Given the description of an element on the screen output the (x, y) to click on. 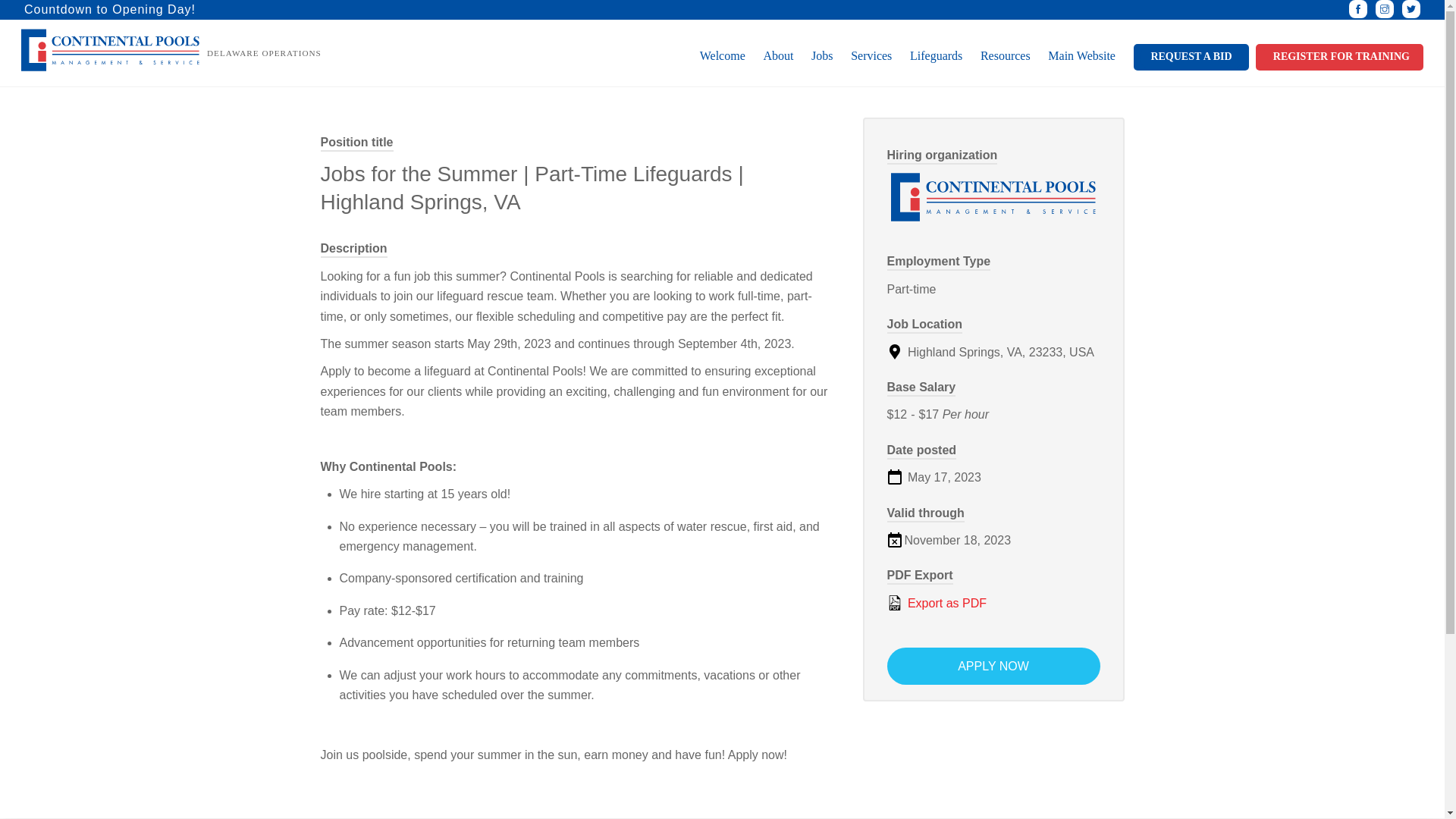
Welcome (722, 55)
contpools-logo (110, 49)
Services (871, 55)
Main Website (1081, 55)
About (777, 55)
REQUEST A BID (1190, 57)
APPLY NOW (993, 665)
Resources (1004, 55)
Export as PDF (993, 603)
Jobs (821, 55)
Continental Pools (993, 196)
Lifeguards (935, 55)
DE Continental Pools (110, 65)
REGISTER FOR TRAINING (1342, 57)
